Given the description of an element on the screen output the (x, y) to click on. 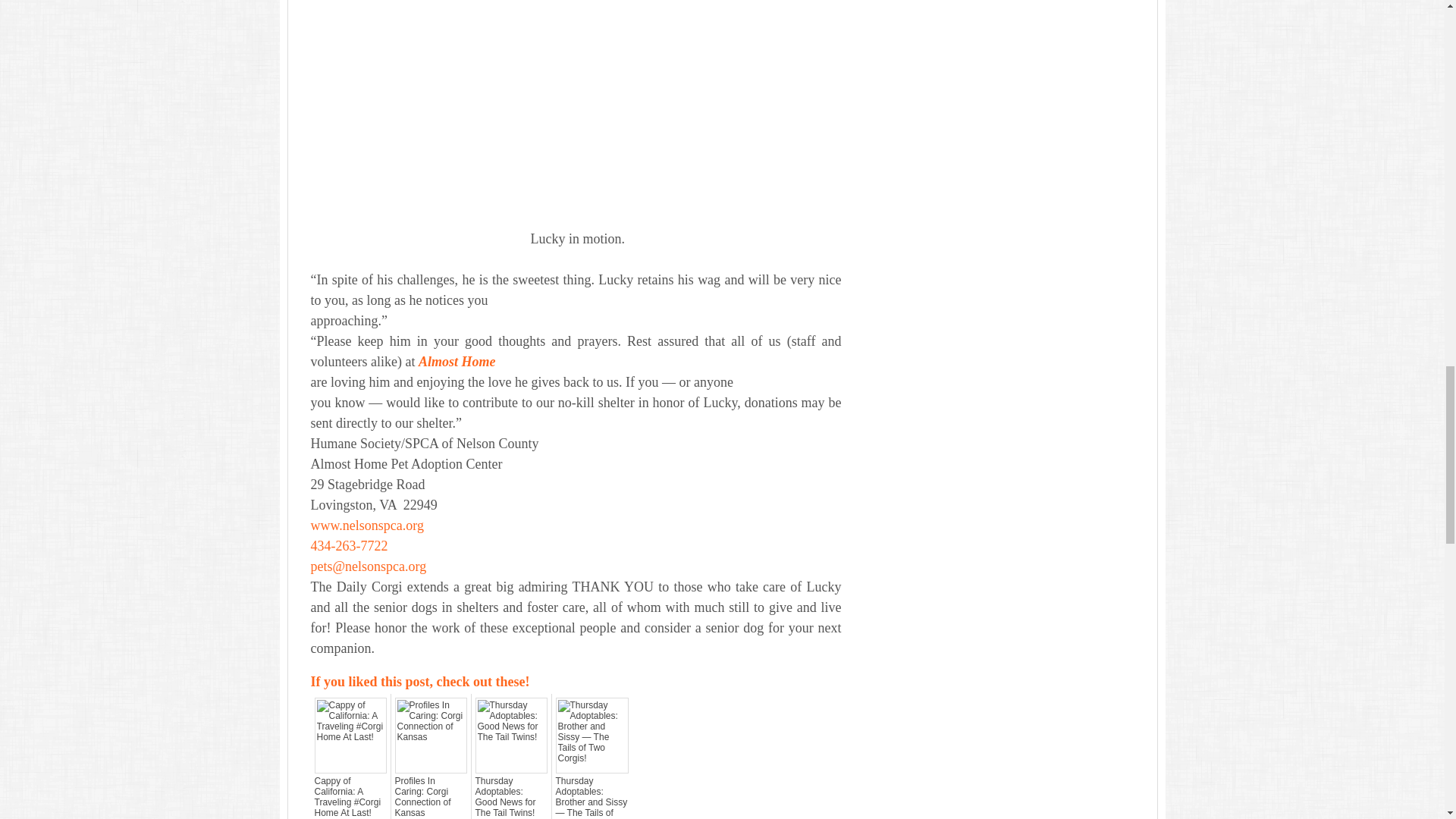
Profiles In Caring: Corgi Connection of Kansas (429, 796)
Almost Home (457, 361)
434-263-7722 (349, 545)
Thursday Adoptables: Good News for The Tail Twins! (510, 796)
www.nelsonspca.org (367, 525)
